Given the description of an element on the screen output the (x, y) to click on. 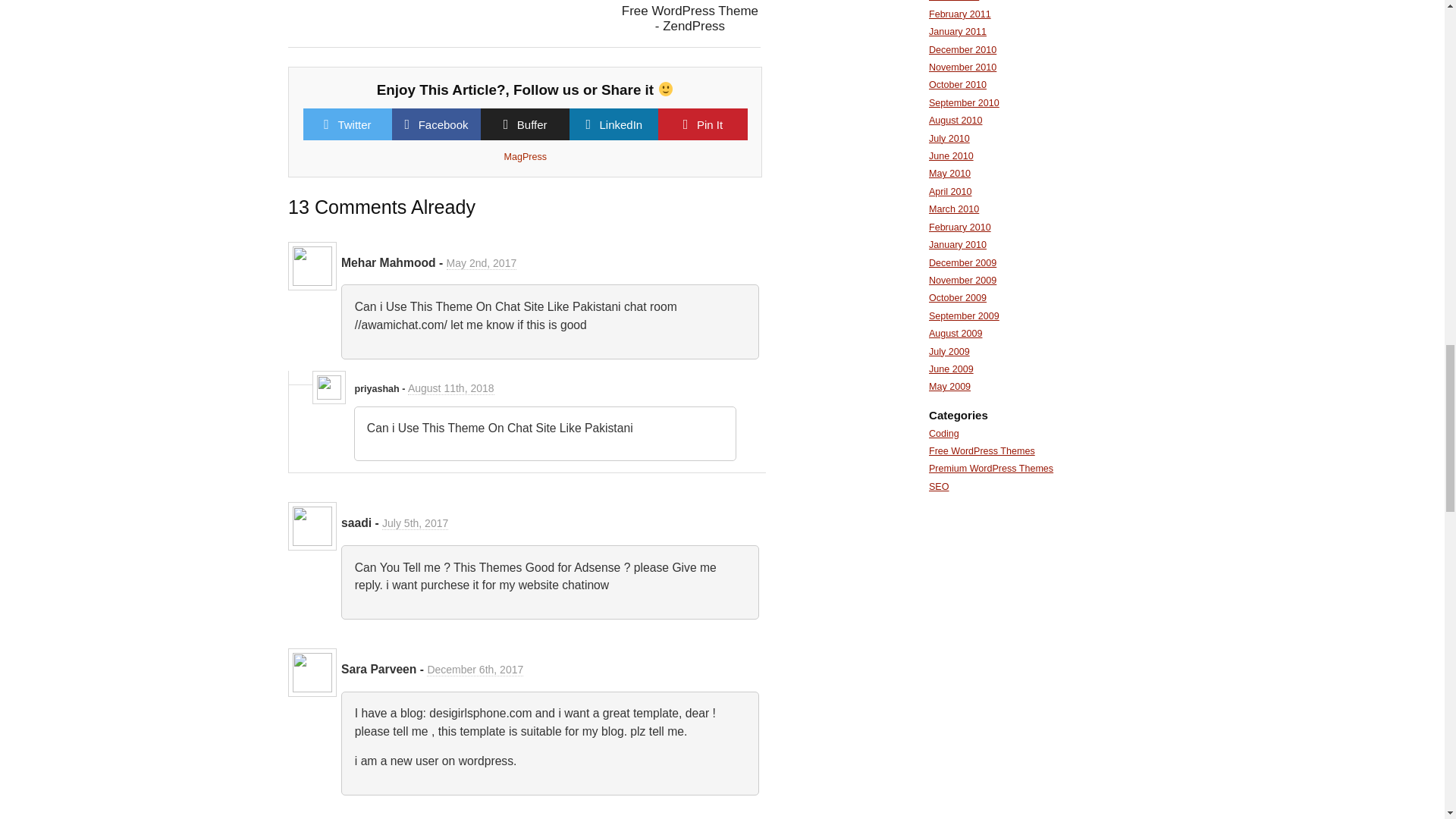
Facebook (443, 124)
Free WordPress Theme - ZendPress (689, 18)
Twitter (354, 124)
